Given the description of an element on the screen output the (x, y) to click on. 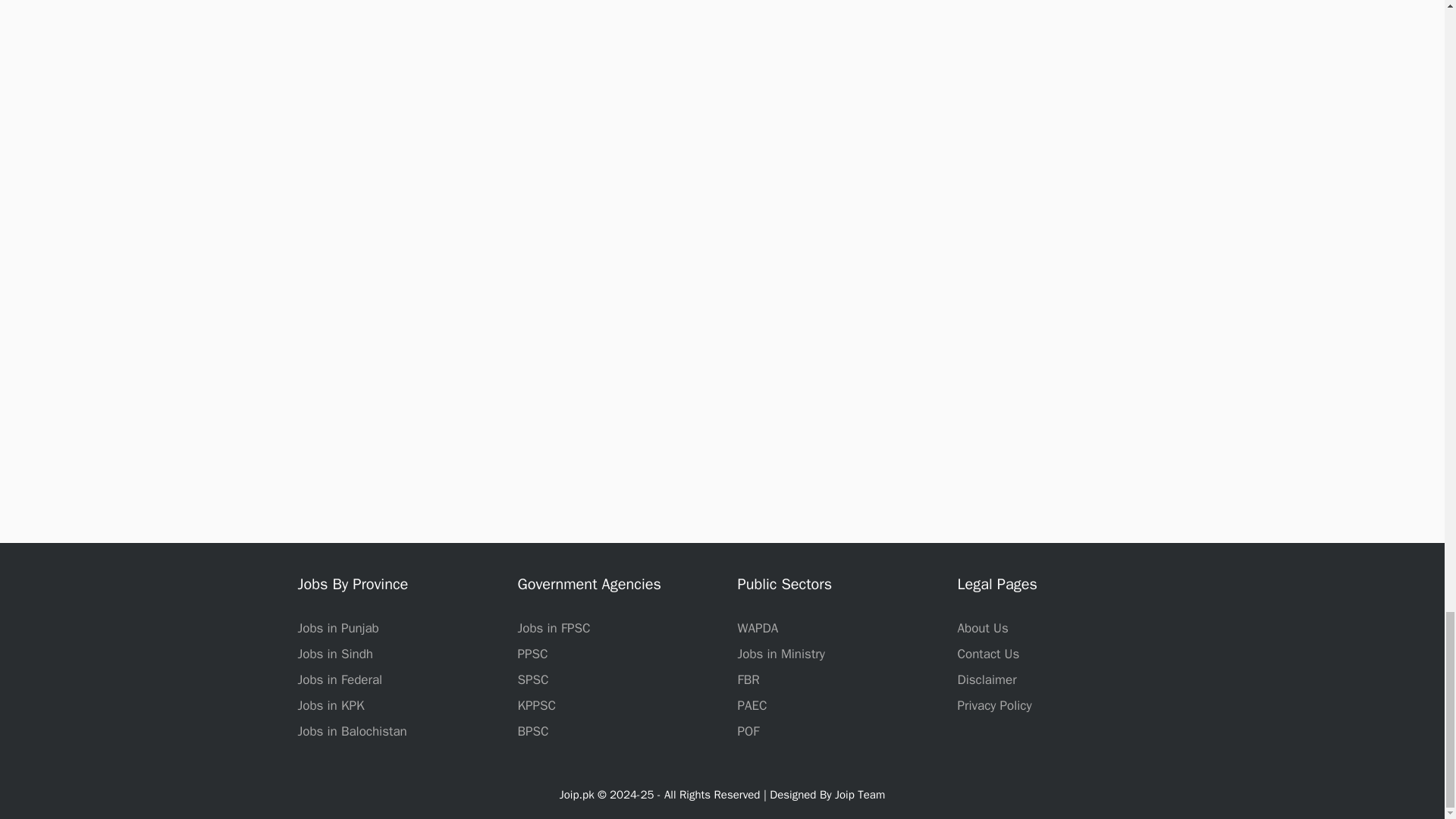
KPPSC (536, 705)
POF (747, 731)
Jobs in KPK (330, 705)
Jobs in Balochistan (351, 731)
Disclaimer (986, 679)
Jobs in Federal (339, 679)
About Us (981, 627)
PPSC (531, 653)
SPSC (532, 679)
PAEC (751, 705)
Jobs in Punjab (337, 627)
FBR (747, 679)
BPSC (532, 731)
WAPDA (756, 627)
Jobs in Ministry (780, 653)
